Given the description of an element on the screen output the (x, y) to click on. 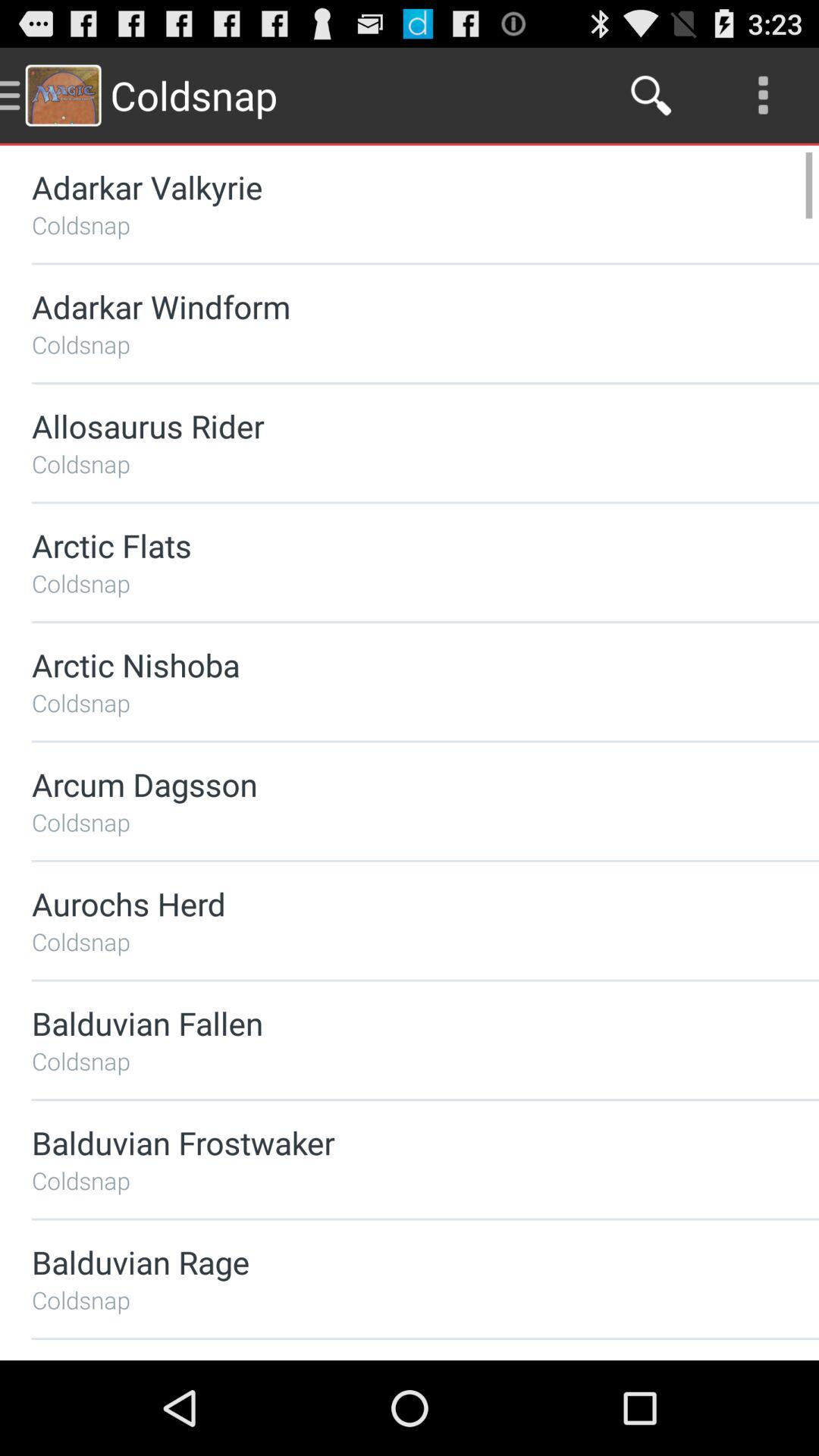
flip to the allosaurus rider icon (385, 425)
